Given the description of an element on the screen output the (x, y) to click on. 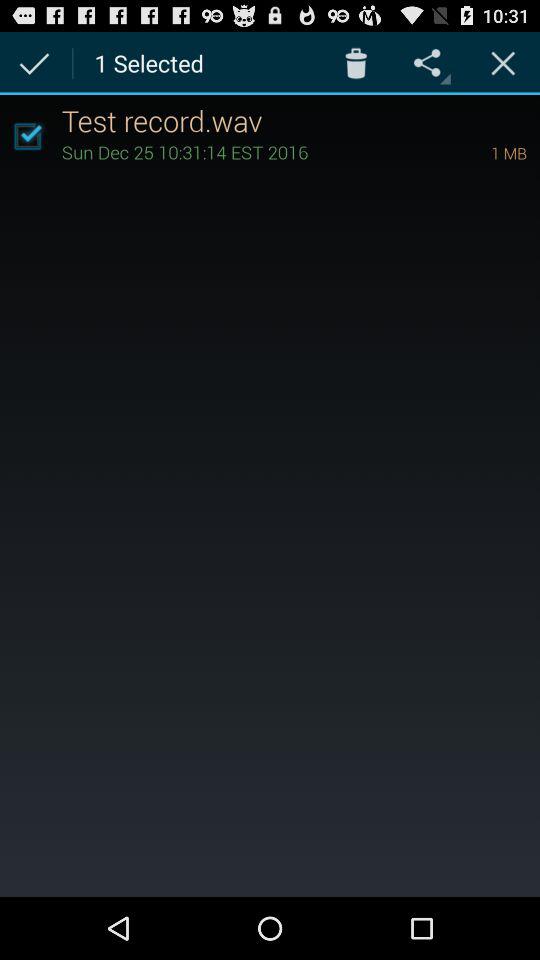
flip to 1 mb (481, 152)
